Given the description of an element on the screen output the (x, y) to click on. 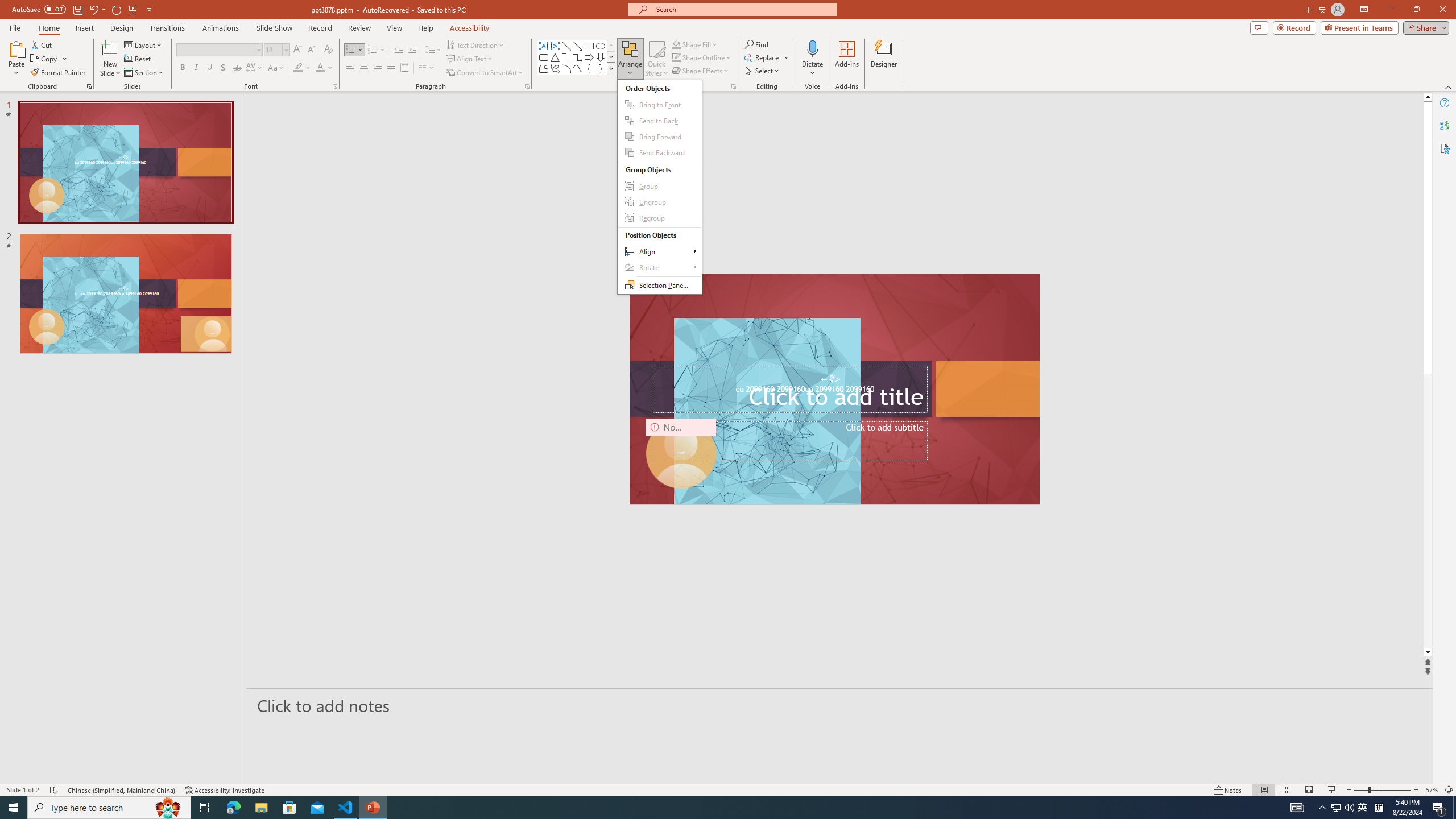
Task View (204, 807)
Center (363, 67)
Format Object... (733, 85)
Cut (42, 44)
